Given the description of an element on the screen output the (x, y) to click on. 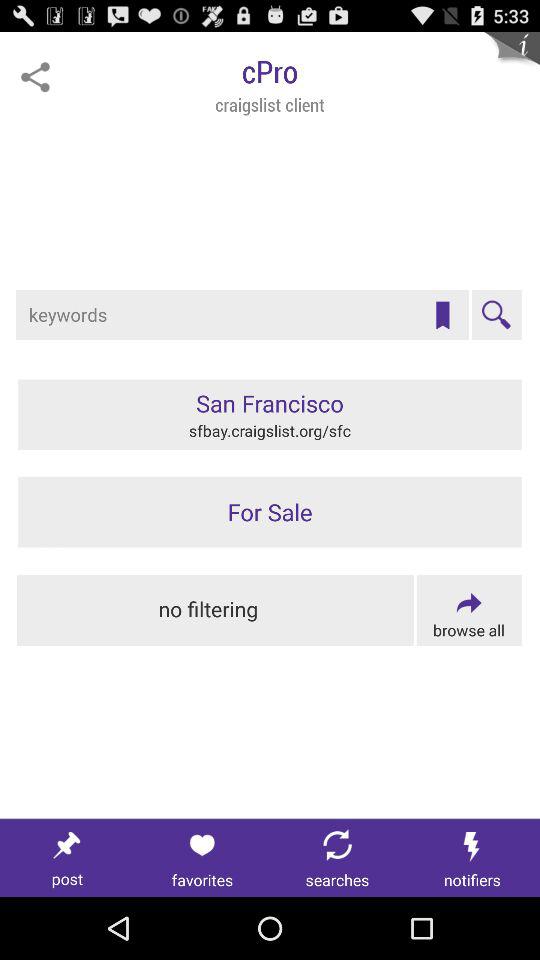
launch a search (496, 315)
